Given the description of an element on the screen output the (x, y) to click on. 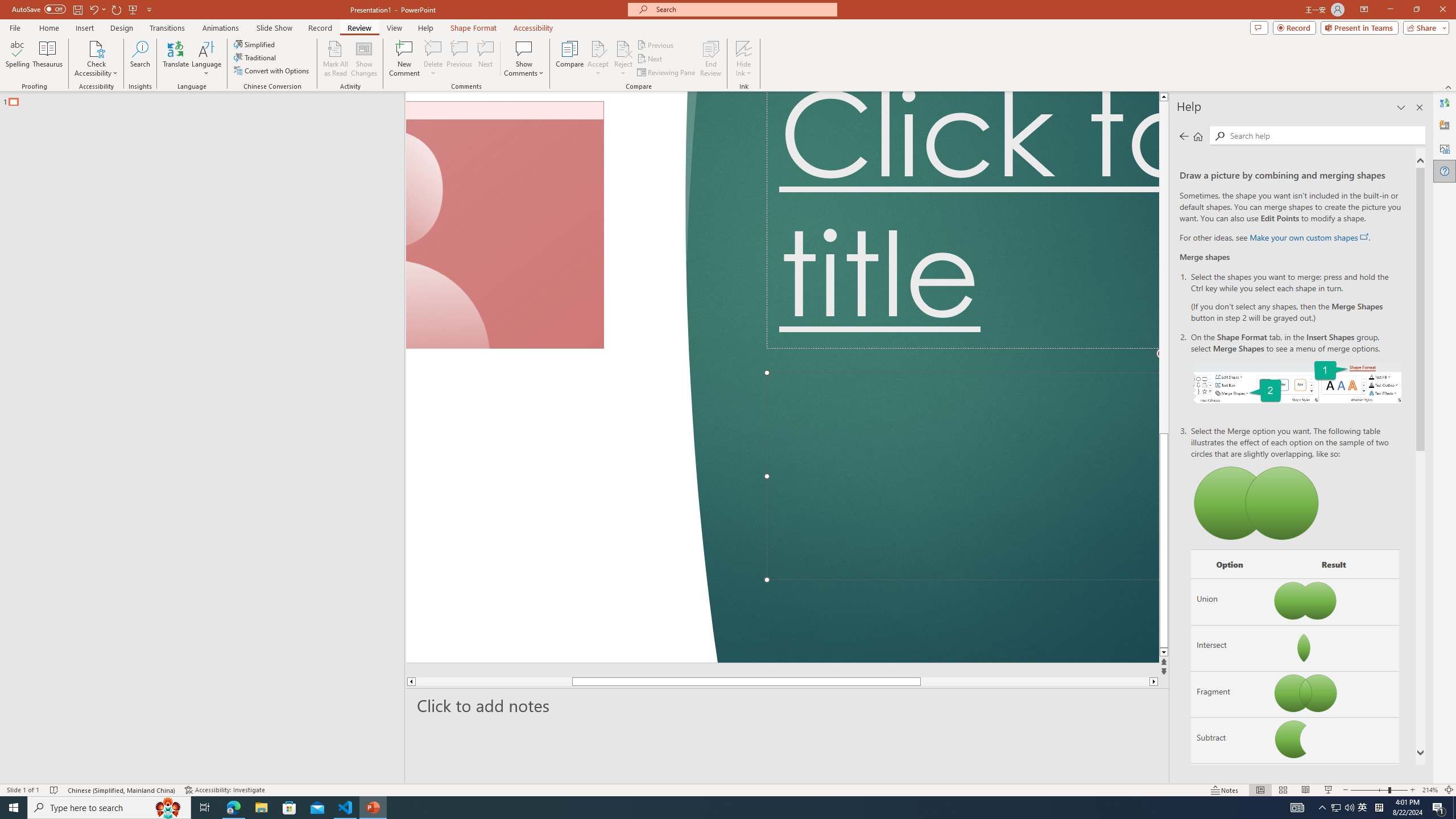
Translate (175, 58)
Accept Change (598, 48)
Language (206, 58)
